Given the description of an element on the screen output the (x, y) to click on. 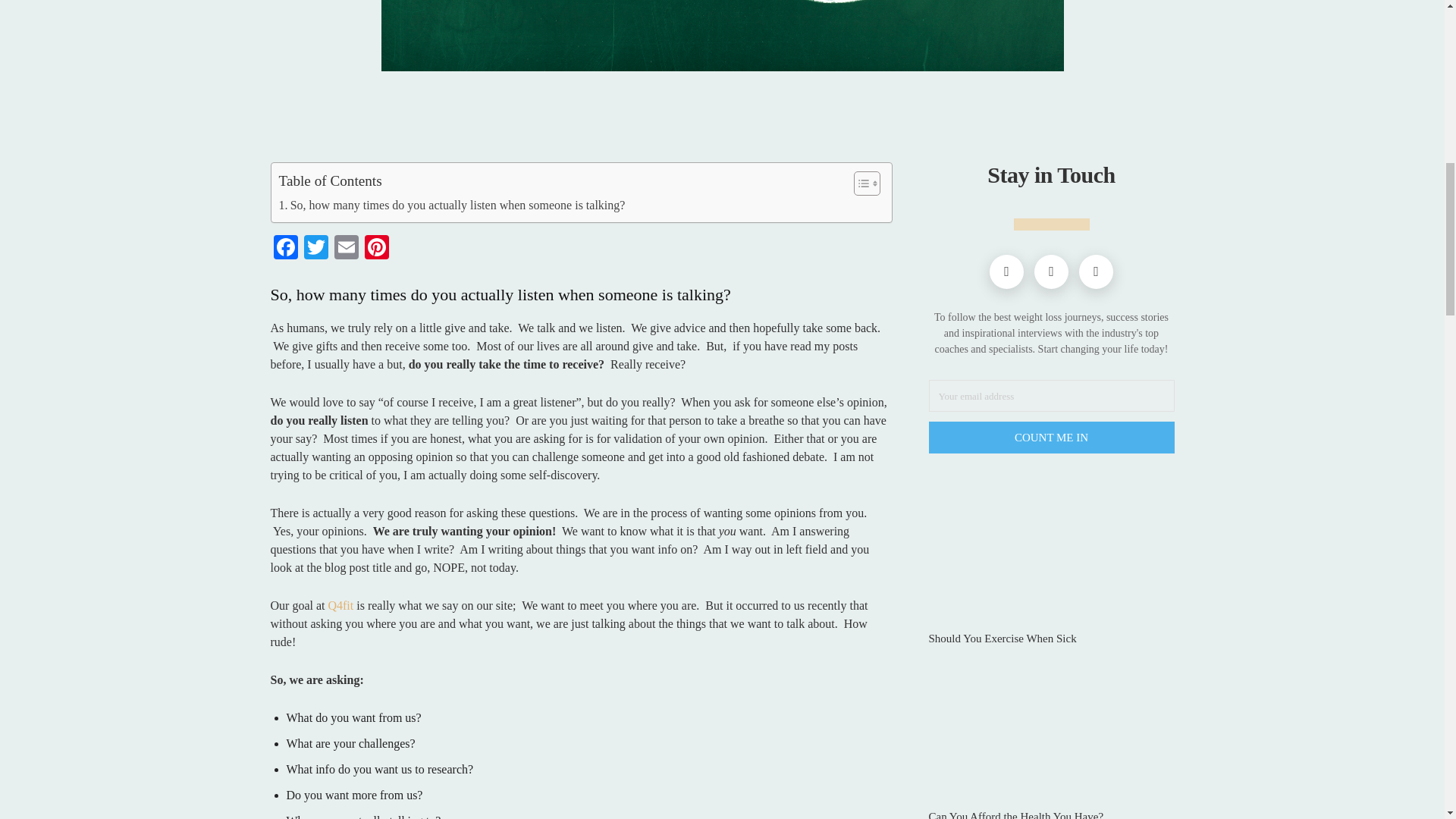
Facebook (284, 248)
Pinterest (376, 248)
Q4fit (341, 604)
Email (345, 248)
Facebook (284, 248)
Email (345, 248)
Pinterest (376, 248)
Twitter (314, 248)
